Given the description of an element on the screen output the (x, y) to click on. 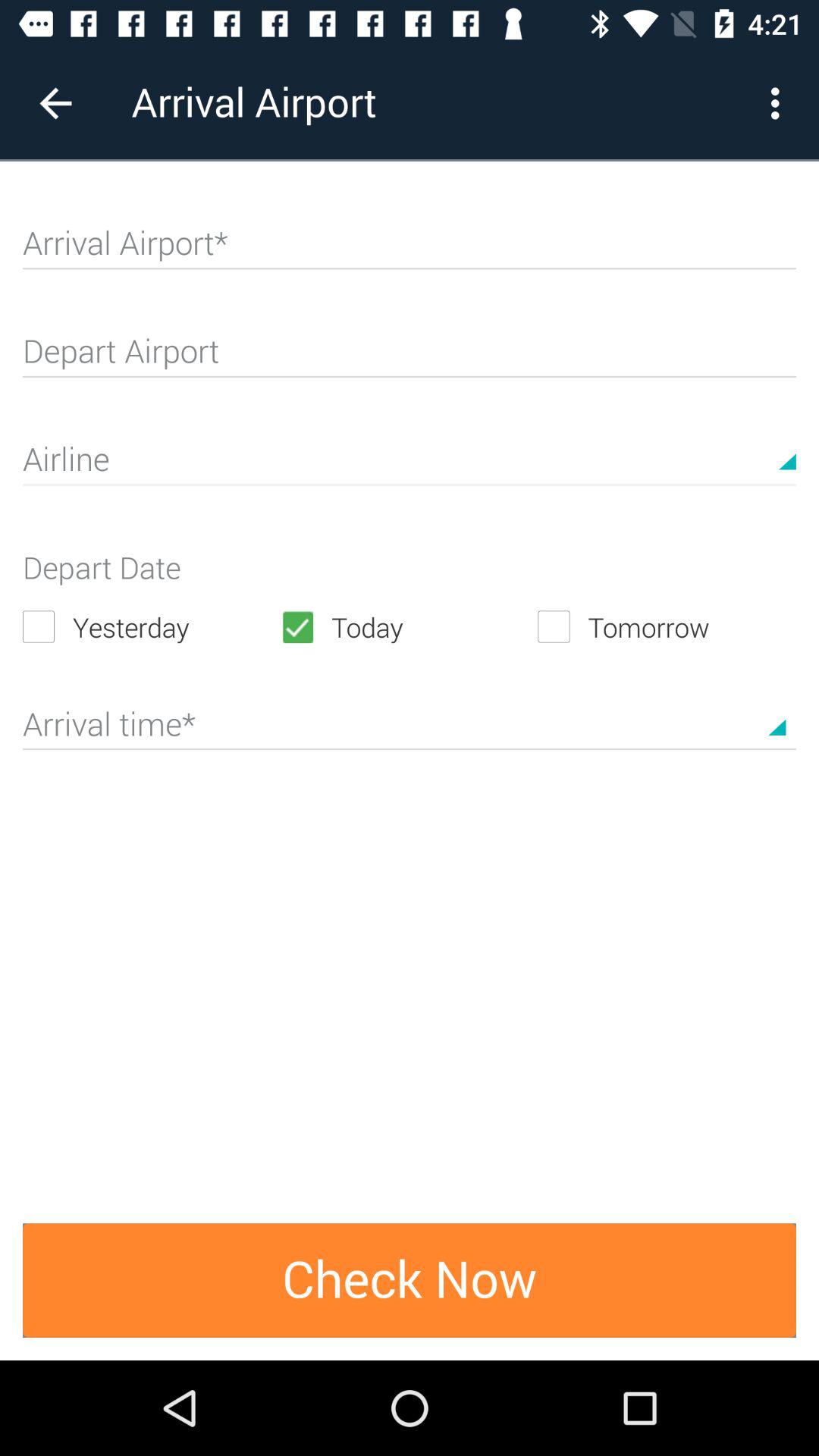
type in airport (409, 249)
